Given the description of an element on the screen output the (x, y) to click on. 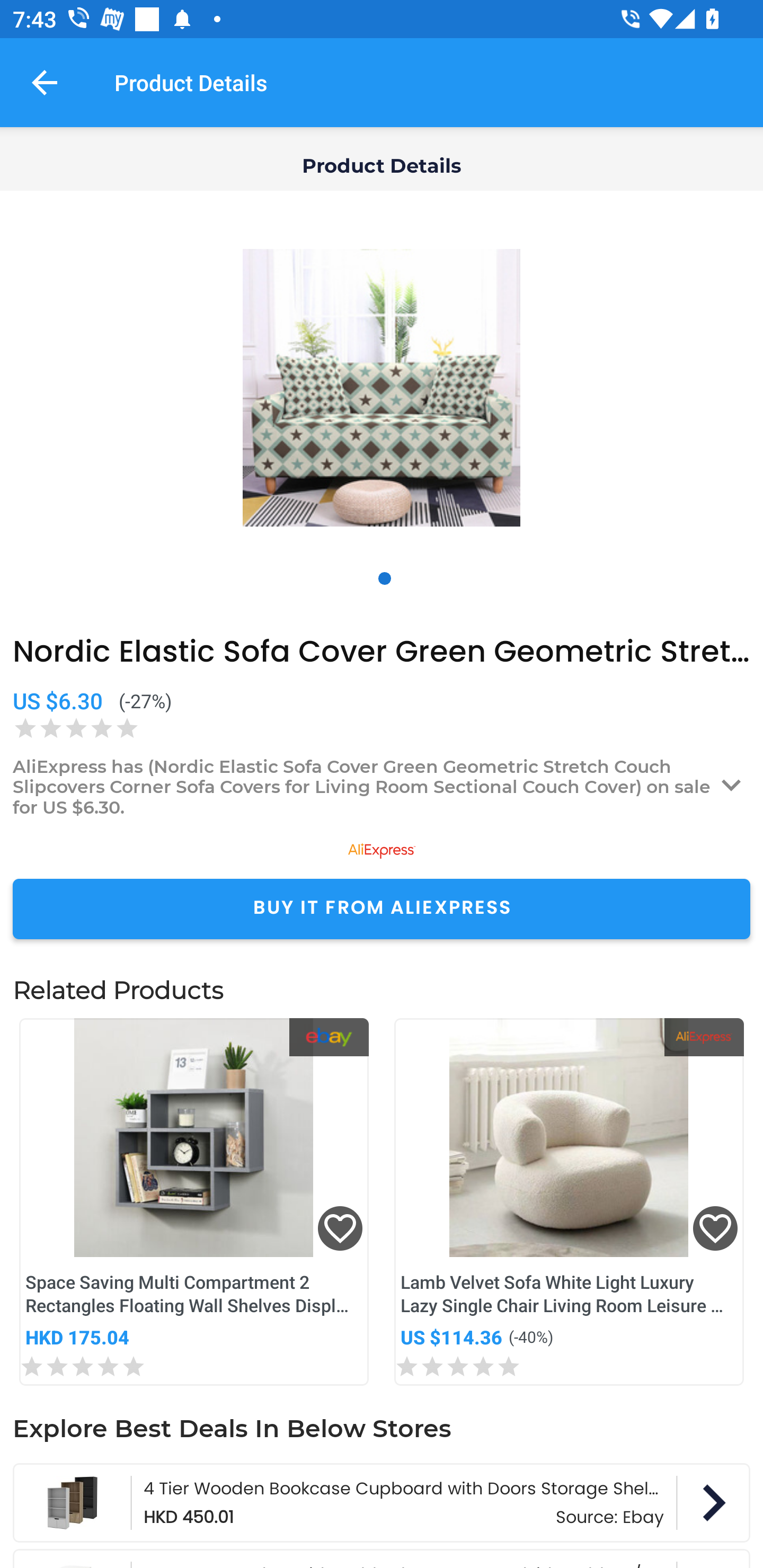
Navigate up (44, 82)
BUY IT FROM ALIEXPRESS (381, 908)
